Given the description of an element on the screen output the (x, y) to click on. 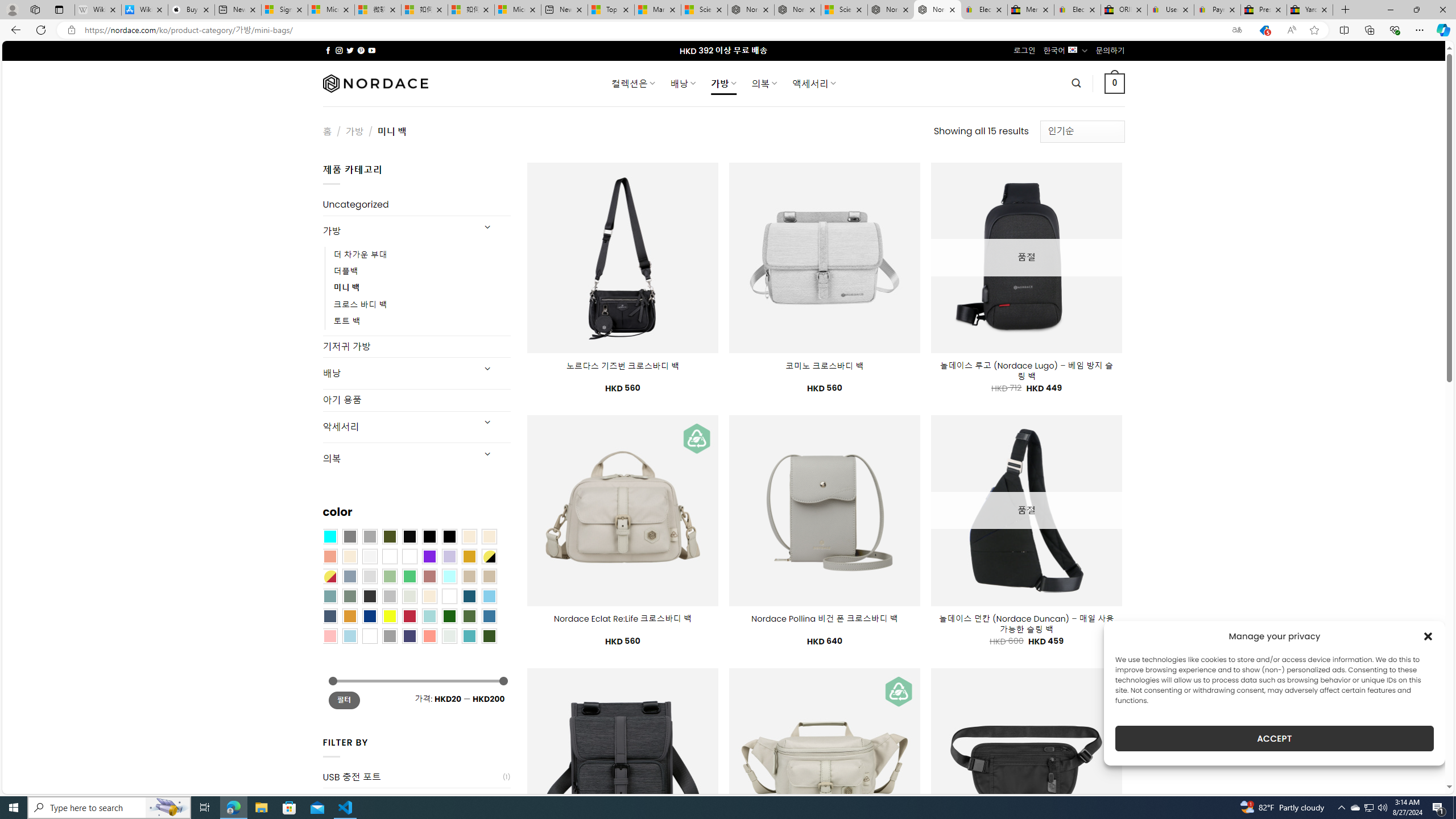
Follow on Pinterest (360, 50)
ACCEPT (1274, 738)
Uncategorized (416, 204)
